Given the description of an element on the screen output the (x, y) to click on. 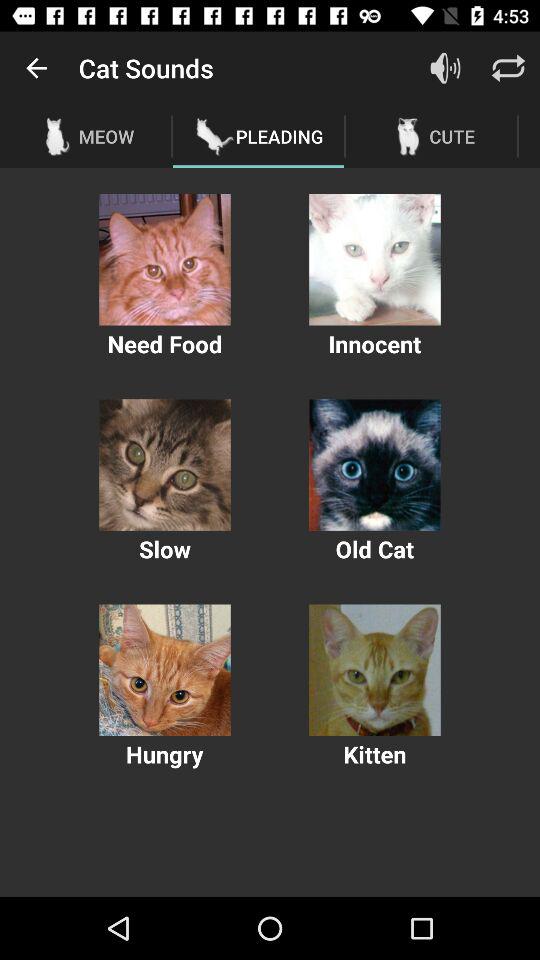
play hungry sound (164, 669)
